Given the description of an element on the screen output the (x, y) to click on. 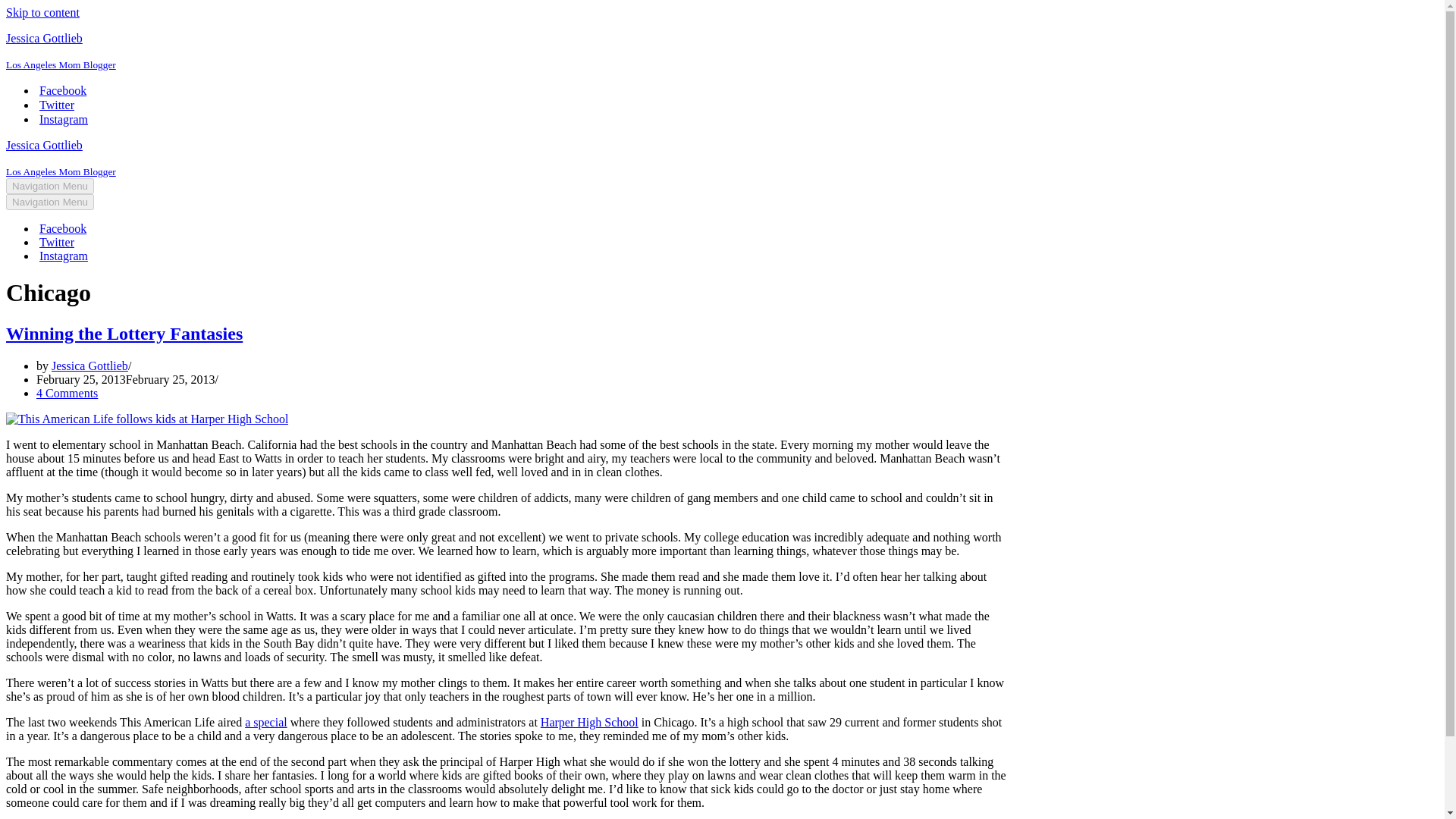
Harper High School (589, 721)
Winning the Lottery Fantasies (124, 333)
a special (265, 721)
Navigation Menu (49, 186)
Harper High School Part Two (589, 721)
Harper High School Part One (265, 721)
Jessica Gottlieb (89, 365)
Facebook (62, 228)
4 Comments (66, 392)
Facebook (62, 90)
Skip to content (42, 11)
Posts by Jessica Gottlieb (89, 365)
Twitter (56, 242)
Instagram (63, 119)
Twitter (56, 104)
